Given the description of an element on the screen output the (x, y) to click on. 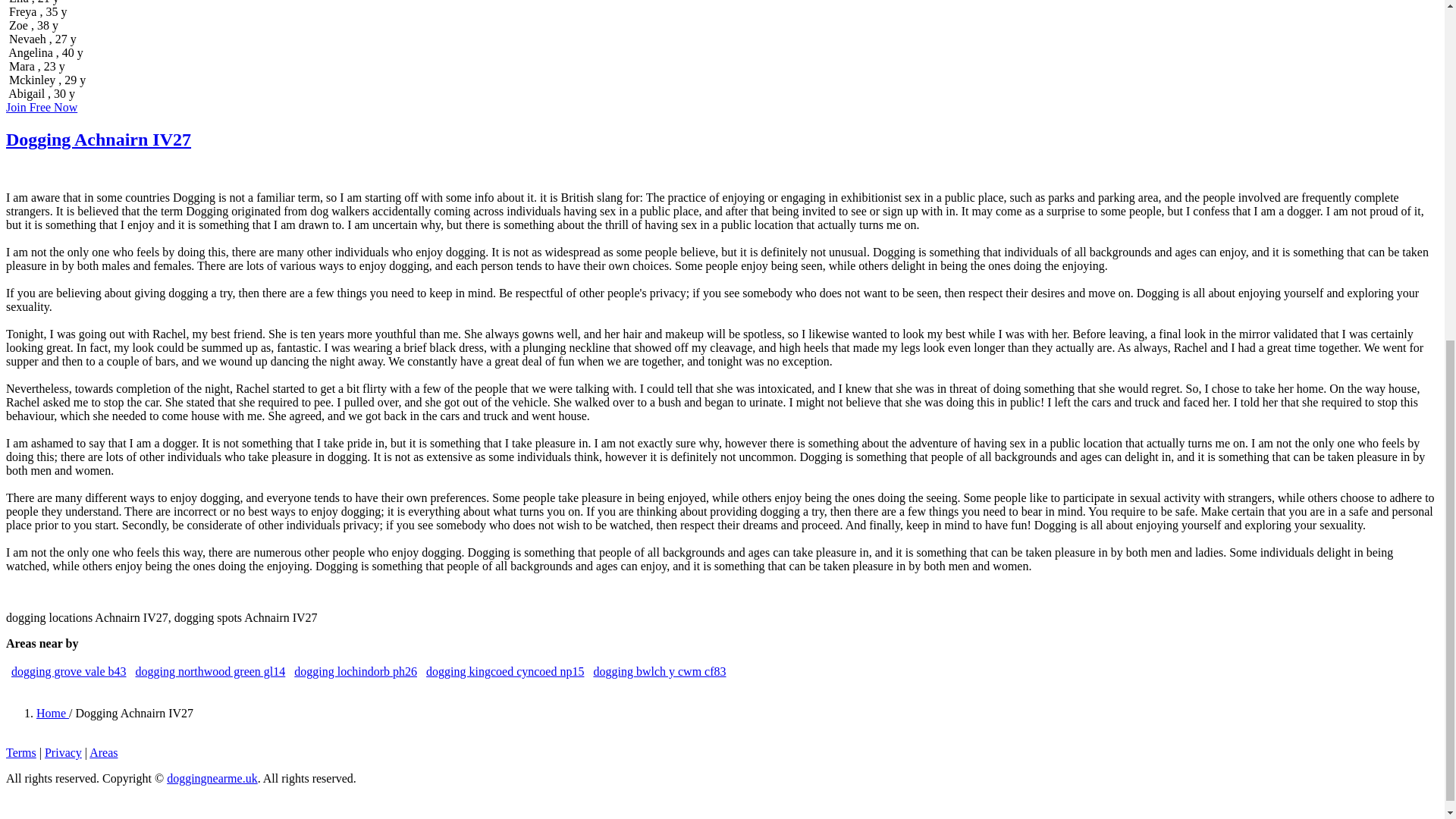
doggingnearme.uk (212, 778)
Terms (20, 752)
Join (41, 106)
Privacy (63, 752)
dogging bwlch y cwm cf83 (658, 671)
Areas (102, 752)
Dogging Achnairn IV27 (97, 139)
Areas (102, 752)
dogging grove vale b43 (68, 671)
dogging northwood green gl14 (210, 671)
doggingnearme.uk (212, 778)
dogging lochindorb ph26 (355, 671)
Terms (20, 752)
Home (52, 712)
Privacy (63, 752)
